Given the description of an element on the screen output the (x, y) to click on. 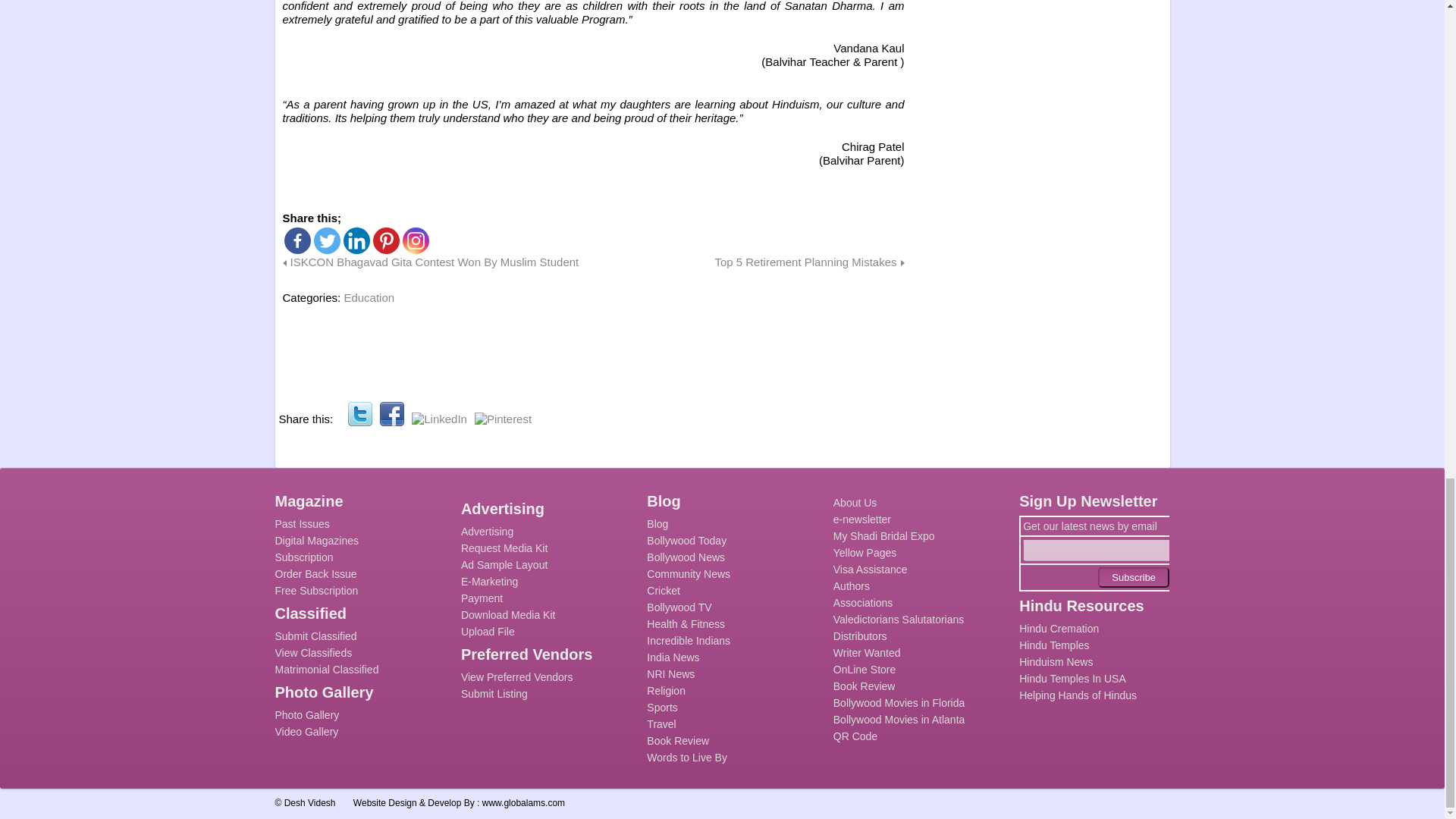
Twitter (327, 240)
Top 5 Retirement Planning Mistakes (809, 261)
LinkedIn (439, 418)
Subscribe (1133, 577)
Twitter (359, 413)
Facebook (392, 413)
Pinterest (502, 418)
ISKCON Bhagavad Gita Contest Won By Muslim Student (430, 261)
Pinterest (385, 240)
Facebook (296, 240)
